Given the description of an element on the screen output the (x, y) to click on. 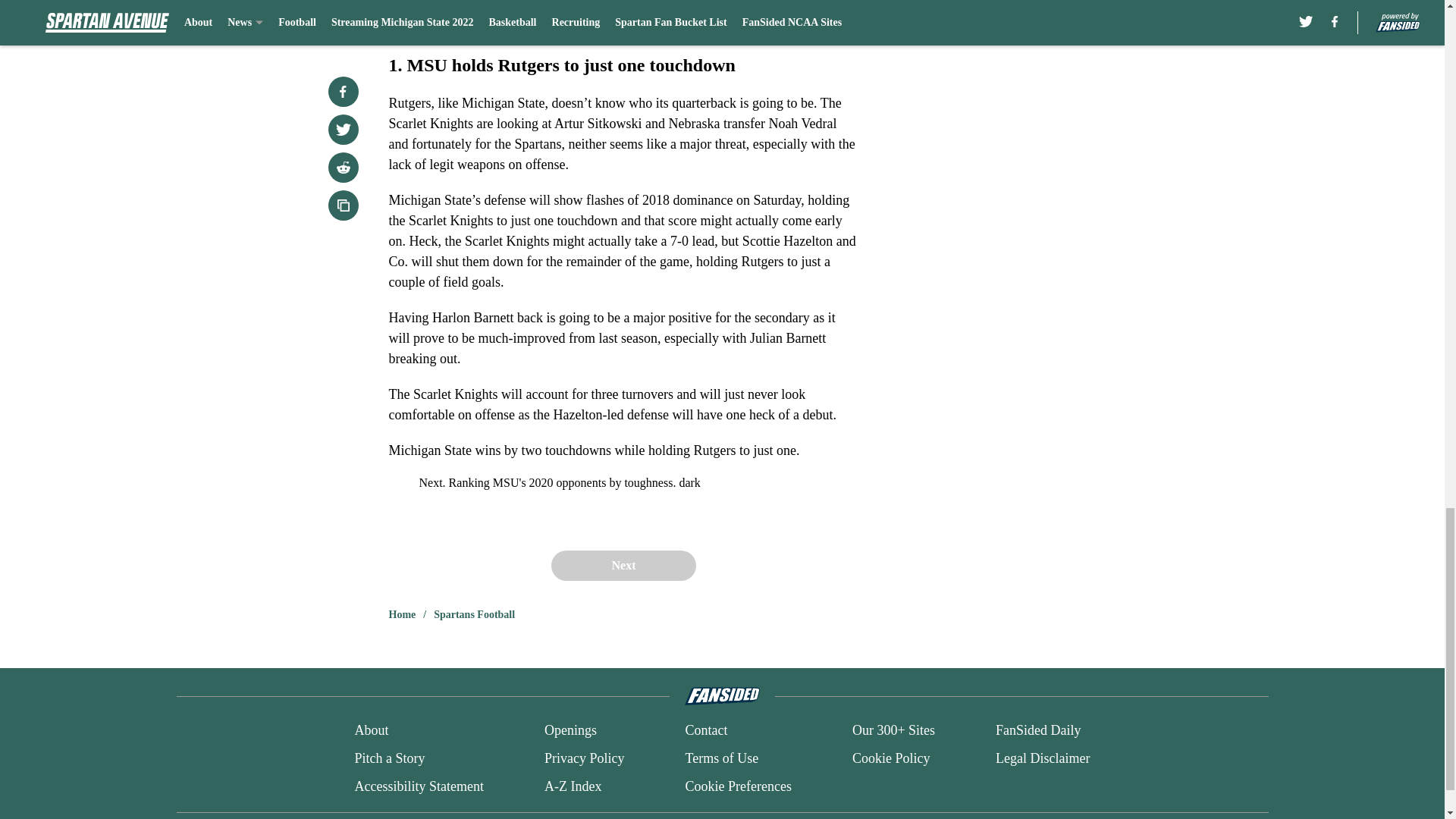
Contact (705, 730)
Home (401, 614)
Pitch a Story (389, 758)
Terms of Use (721, 758)
Privacy Policy (584, 758)
Next (622, 565)
Spartans Football (474, 614)
About (370, 730)
FanSided Daily (1038, 730)
Openings (570, 730)
